Given the description of an element on the screen output the (x, y) to click on. 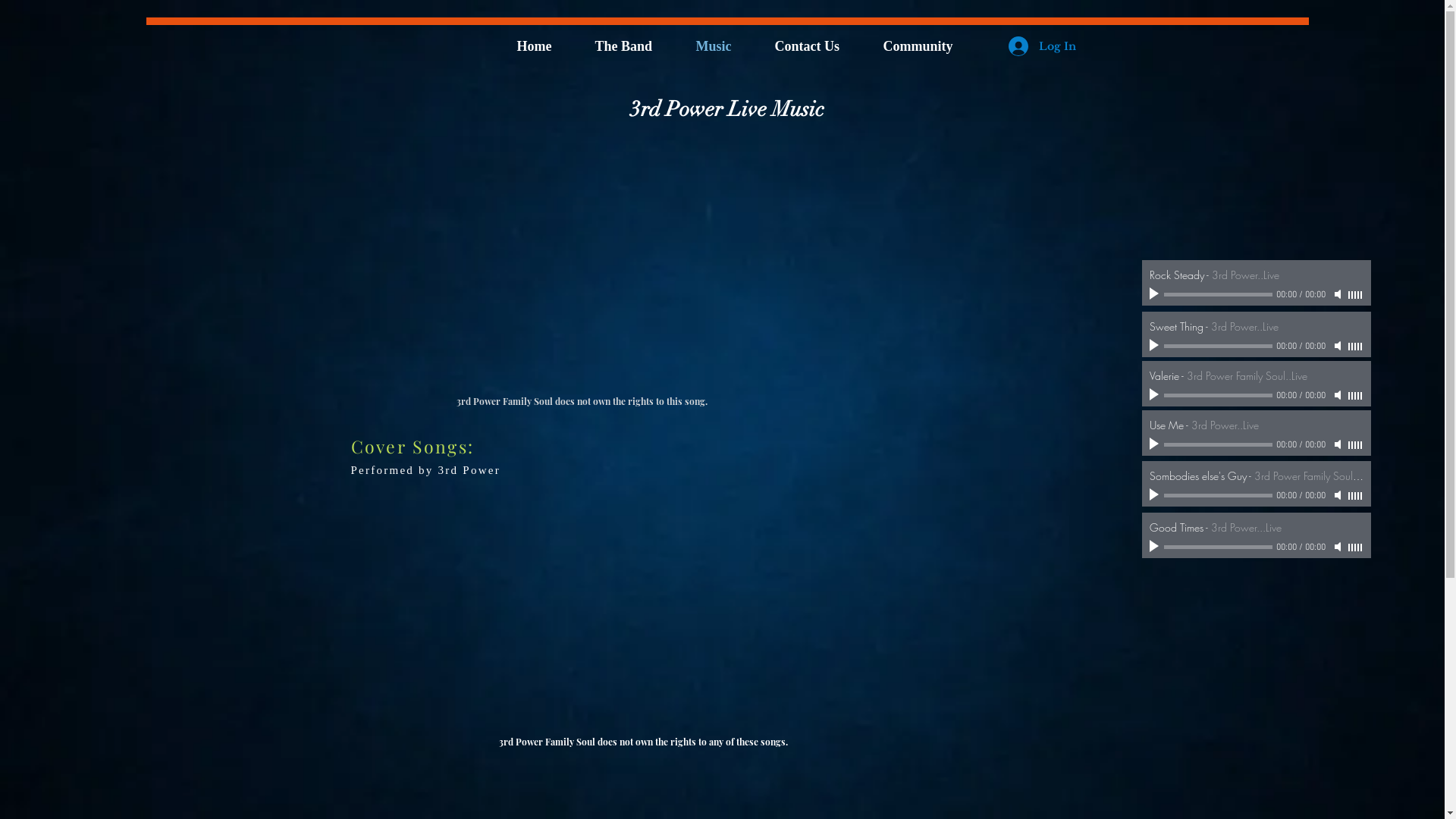
The Band Element type: text (633, 46)
Contact Us Element type: text (816, 46)
Community Element type: text (928, 46)
Music Element type: text (723, 46)
Log In Element type: text (1041, 45)
Home Element type: text (544, 46)
